Given the description of an element on the screen output the (x, y) to click on. 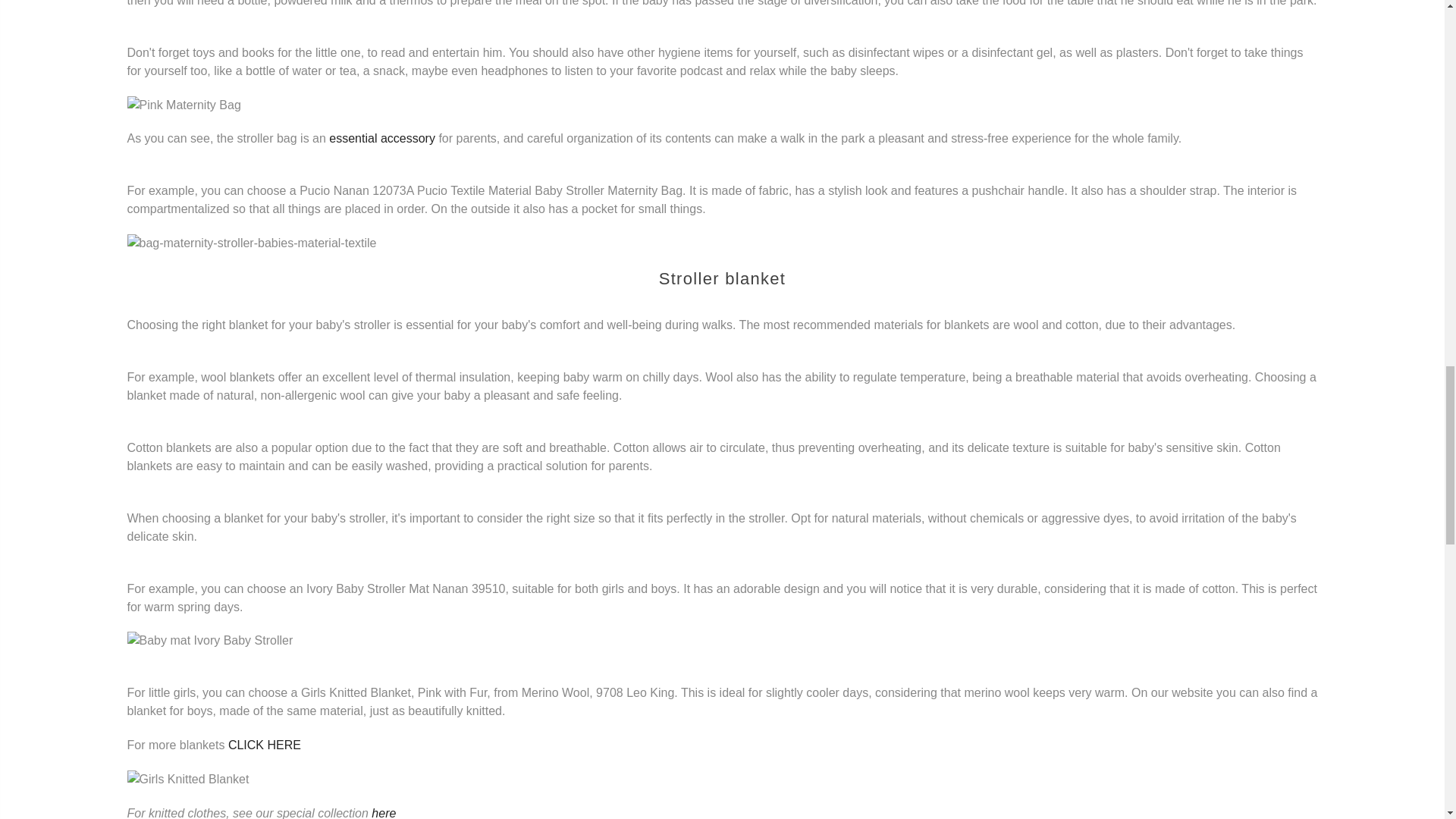
here (383, 812)
CLICK HERE (264, 744)
essential accessory (382, 137)
